Given the description of an element on the screen output the (x, y) to click on. 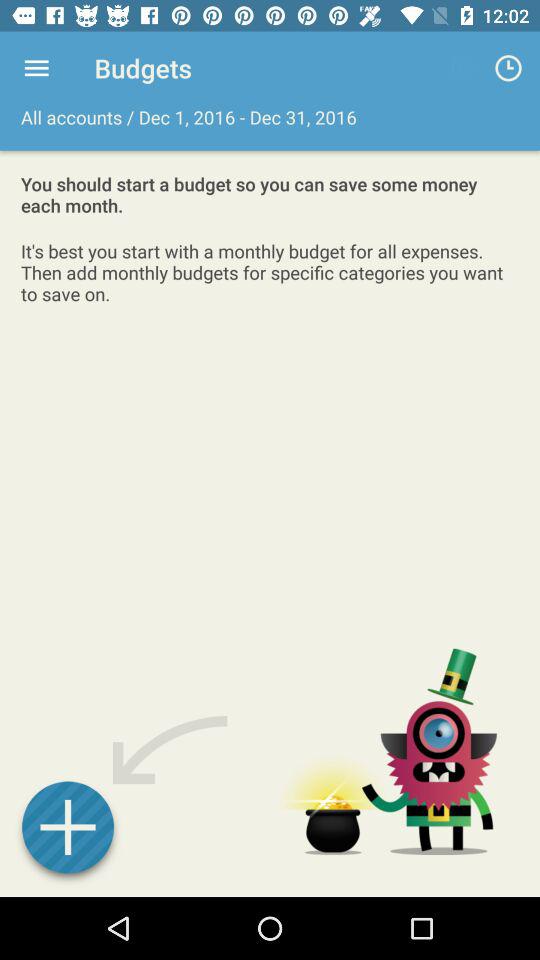
choose item to the right of all accounts dec (508, 67)
